Given the description of an element on the screen output the (x, y) to click on. 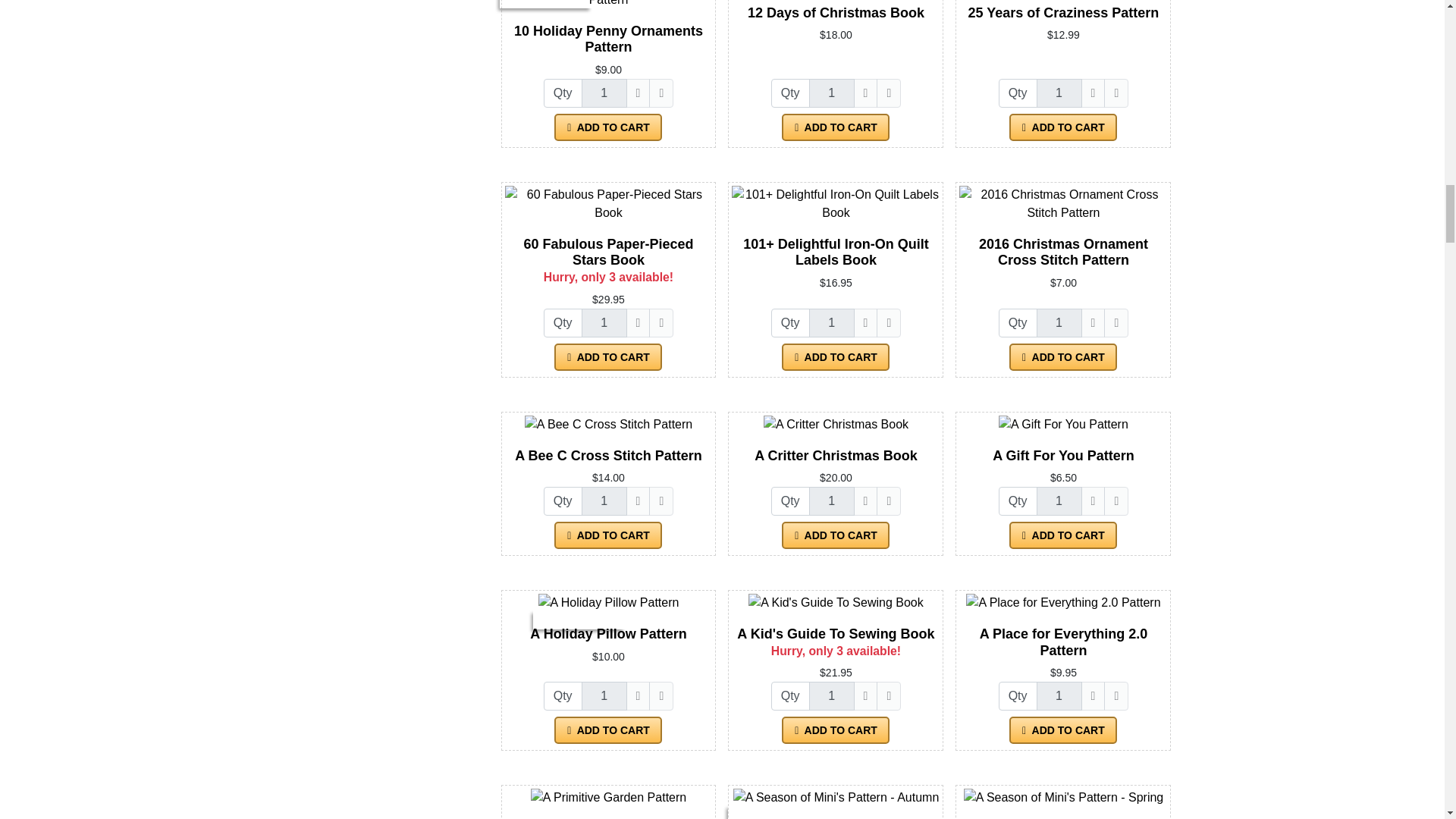
1 (603, 92)
